Given the description of an element on the screen output the (x, y) to click on. 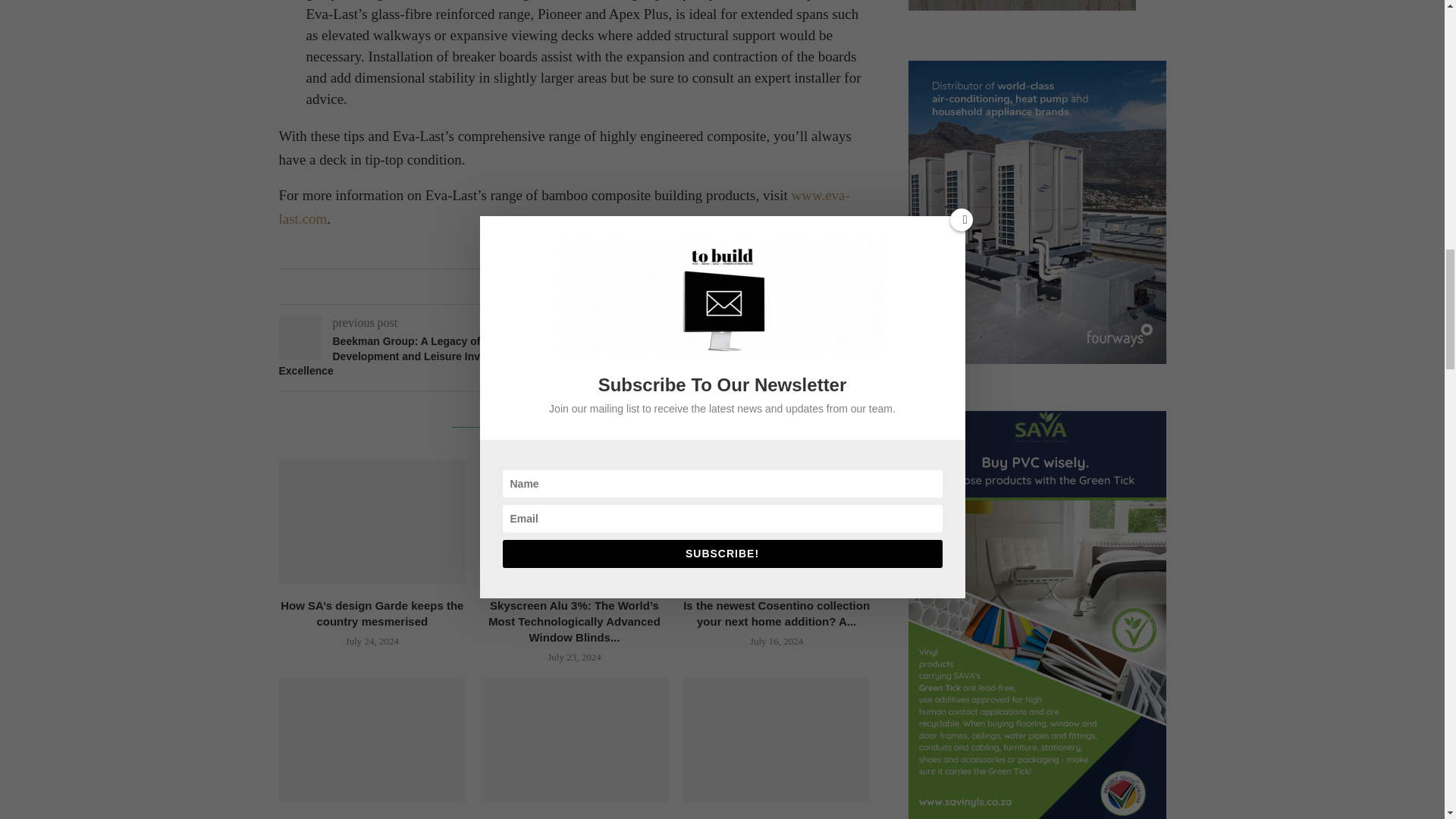
www.eva-last.com (564, 206)
Trending Modern Mosaic Profiles: Cube 3D, Chevron and Punkah (574, 740)
Roche Bobois Launches Stunning New 2024 Collection (372, 740)
